Given the description of an element on the screen output the (x, y) to click on. 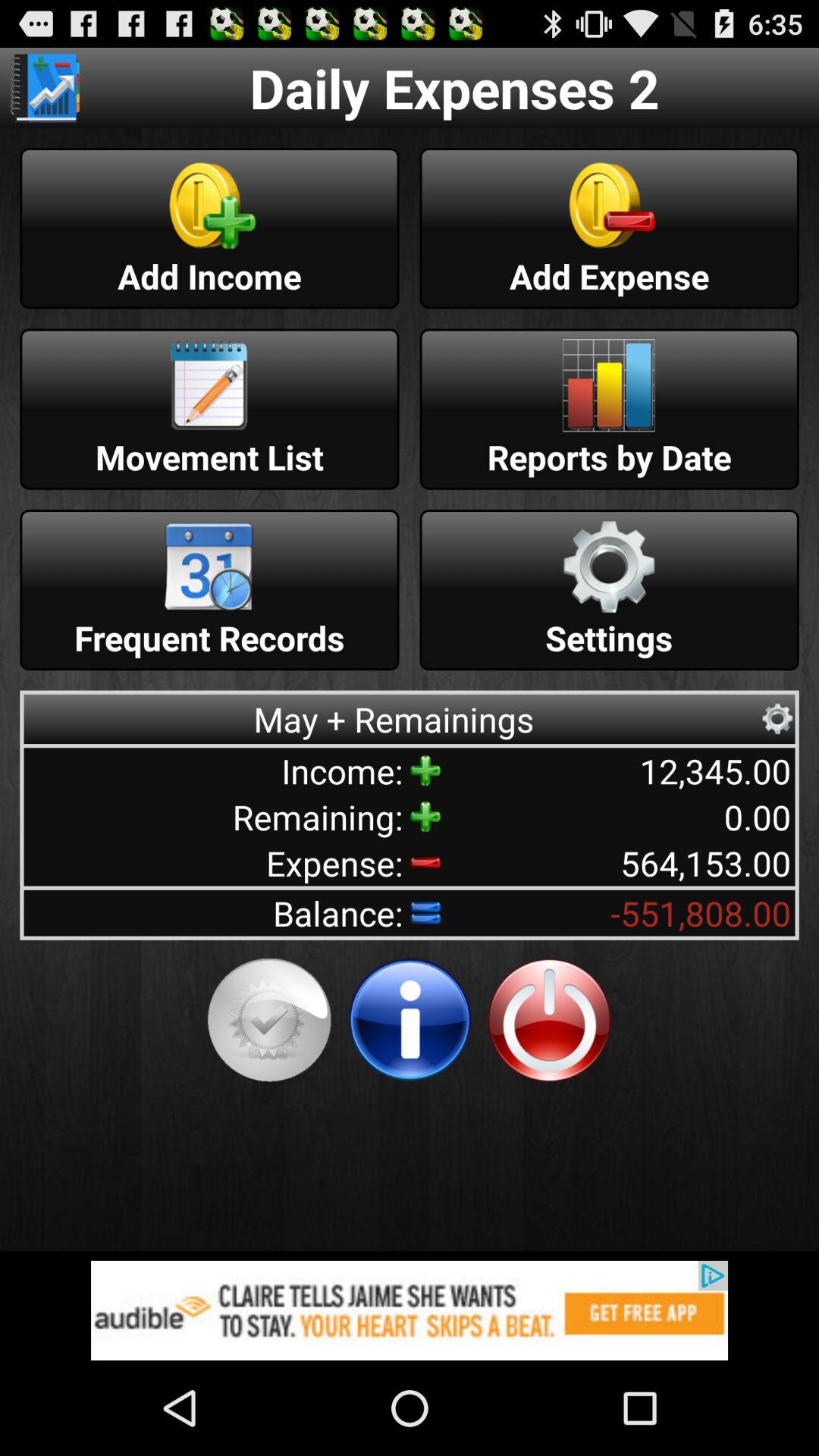
check status (269, 1020)
